Given the description of an element on the screen output the (x, y) to click on. 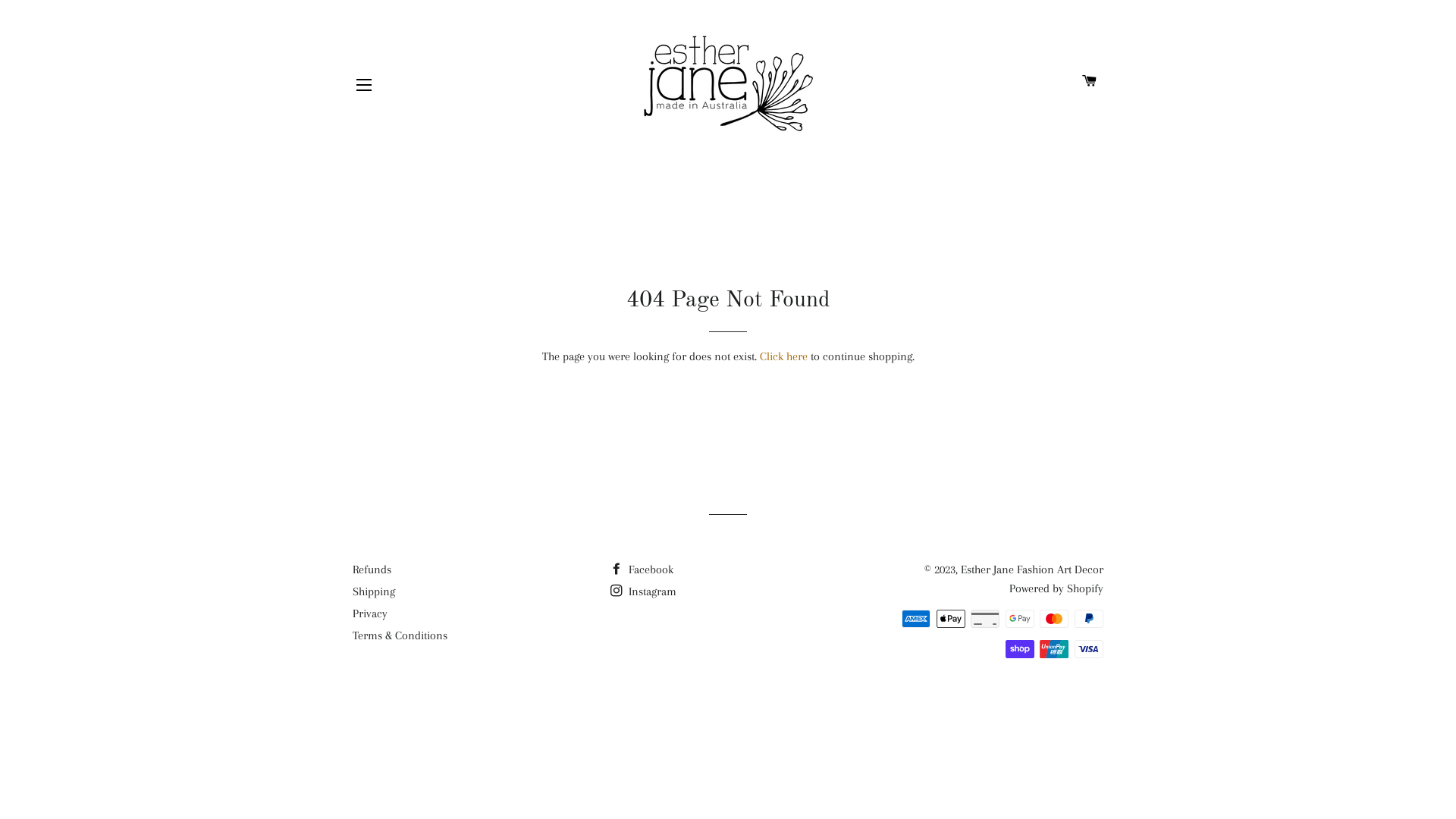
Esther Jane Fashion Art Decor Element type: text (1031, 569)
Privacy Element type: text (369, 613)
Powered by Shopify Element type: text (1056, 588)
Shipping Element type: text (373, 591)
Facebook Element type: text (641, 569)
CART Element type: text (1089, 80)
Terms & Conditions Element type: text (399, 635)
SITE NAVIGATION Element type: text (363, 84)
Instagram Element type: text (643, 591)
Refunds Element type: text (371, 569)
Click here Element type: text (783, 356)
